Given the description of an element on the screen output the (x, y) to click on. 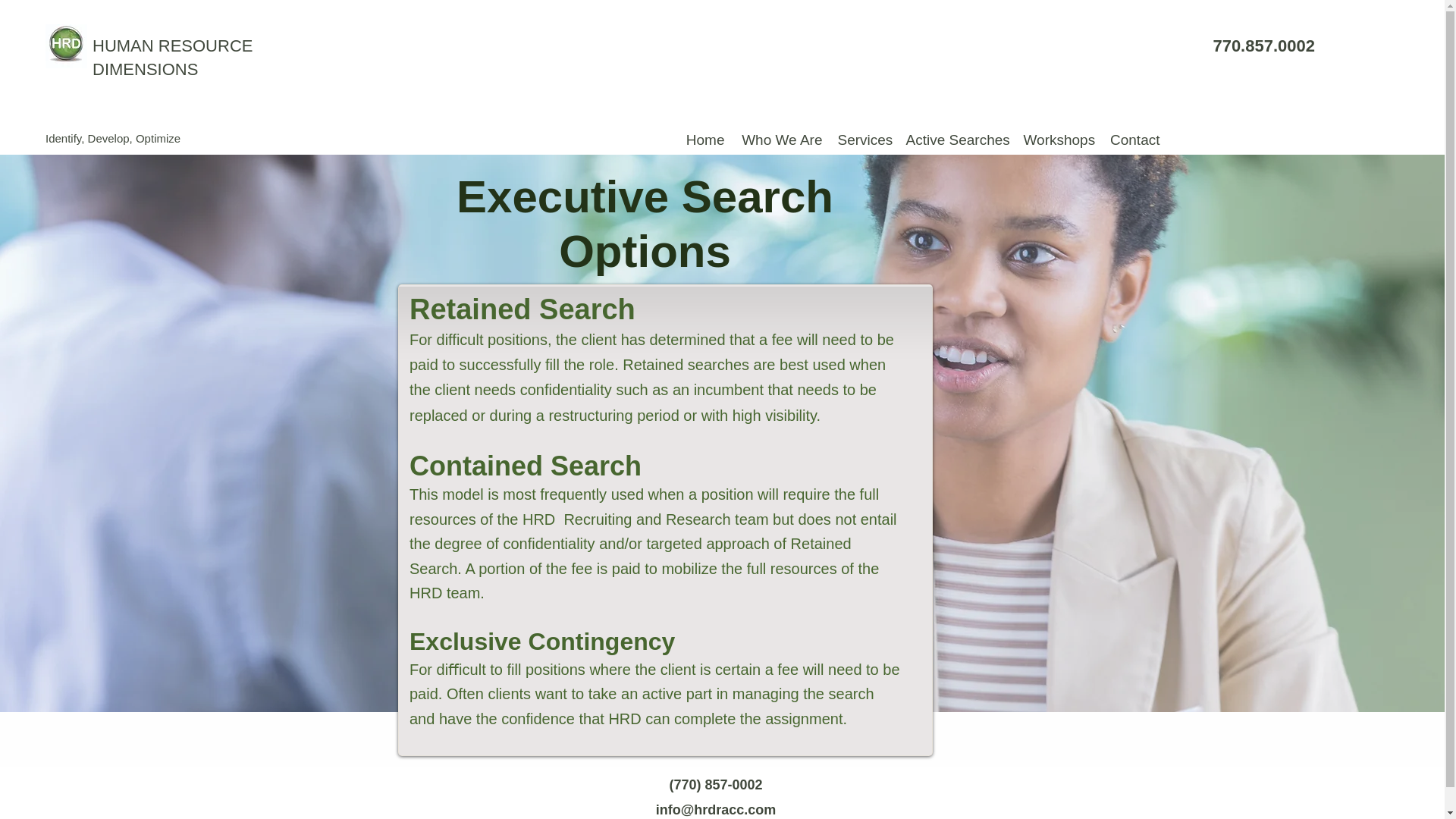
Services (863, 139)
HUMAN RESOURCE DIMENSIONS (172, 57)
Who We Are (780, 139)
Home (705, 139)
Contact (1134, 139)
Active Searches (956, 139)
Workshops (1059, 139)
